Given the description of an element on the screen output the (x, y) to click on. 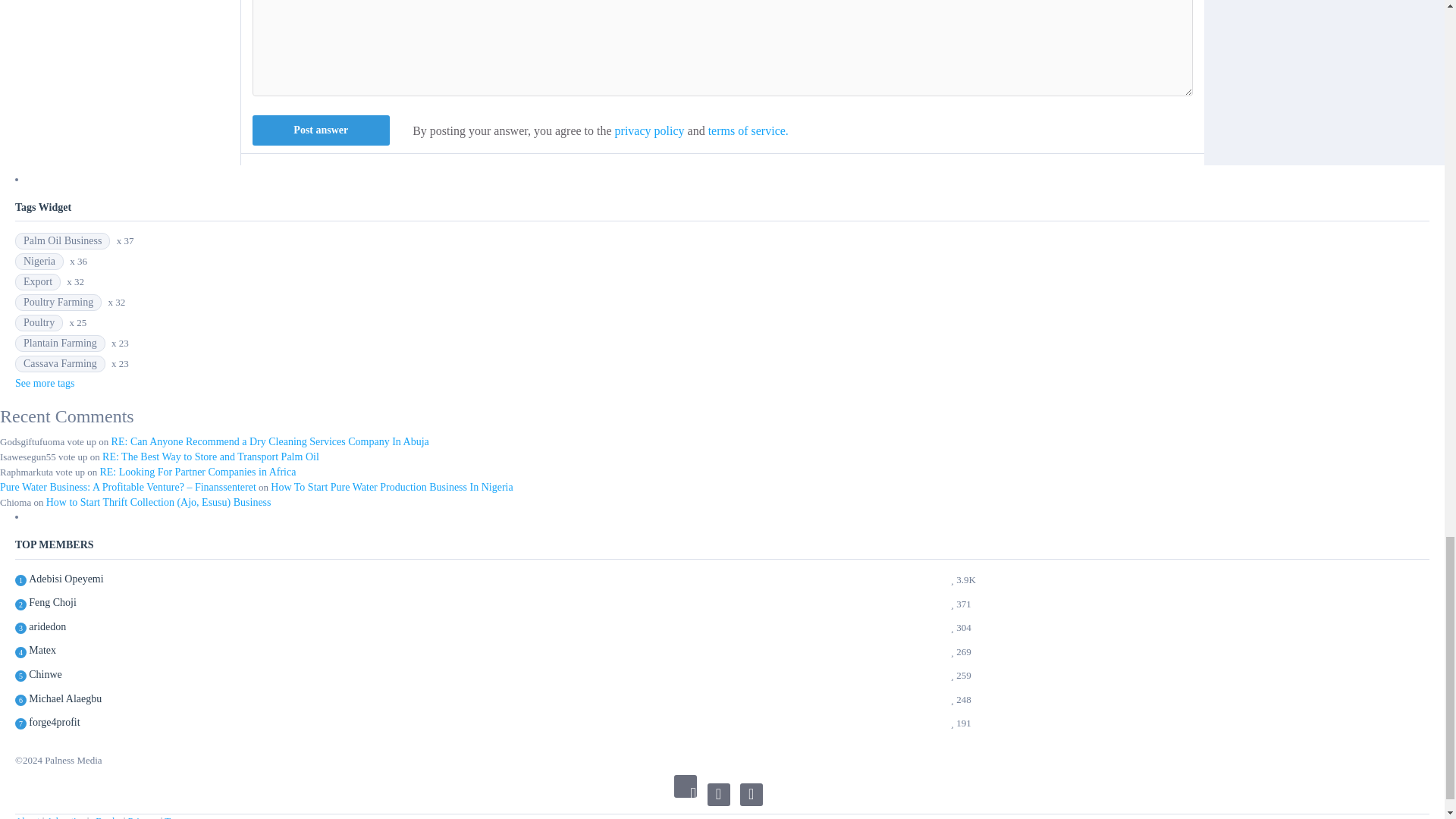
269 (42, 650)
371 (53, 602)
304 (47, 626)
259 (45, 674)
3907 (66, 578)
